Given the description of an element on the screen output the (x, y) to click on. 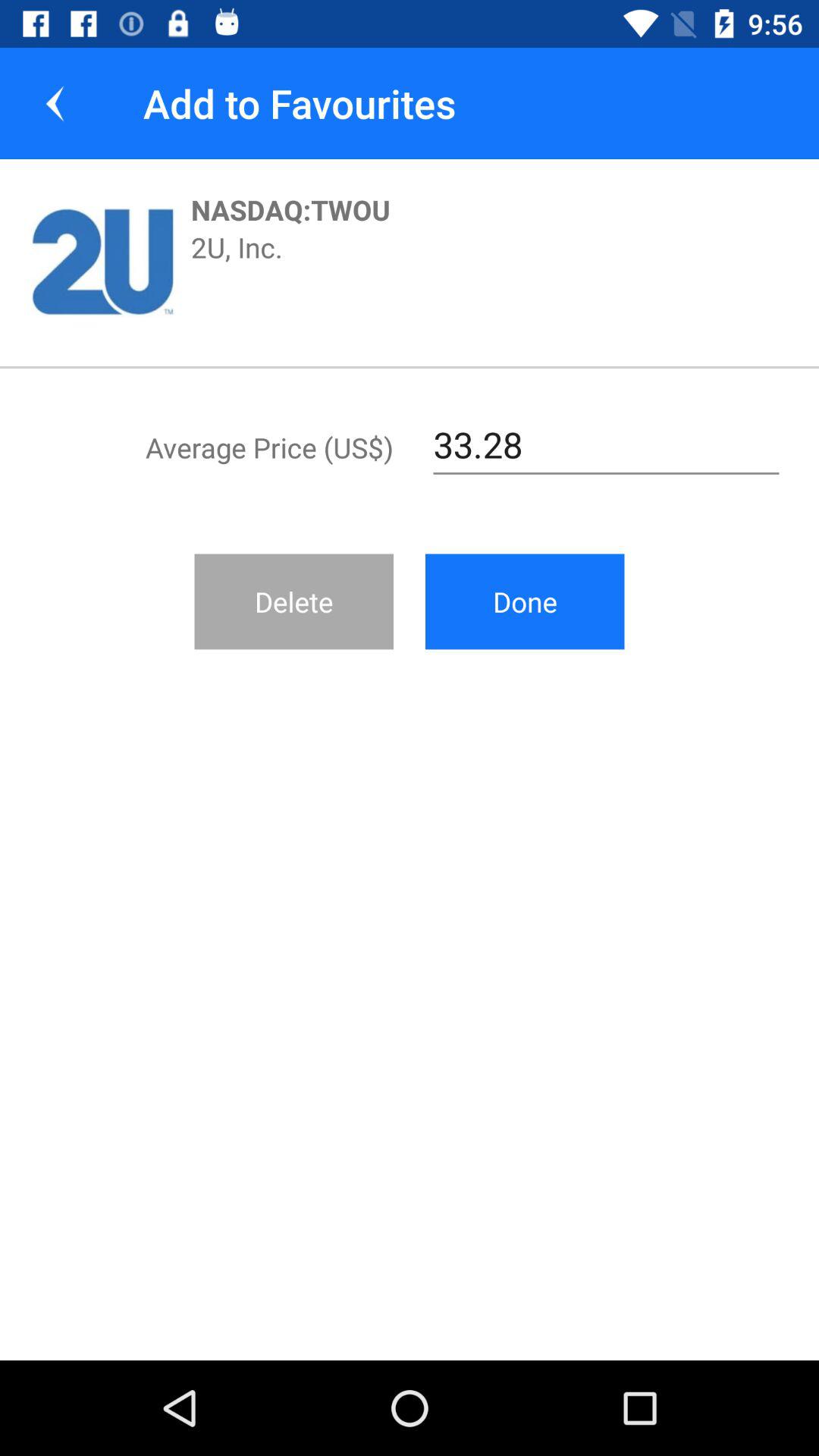
jump to the delete icon (293, 601)
